Given the description of an element on the screen output the (x, y) to click on. 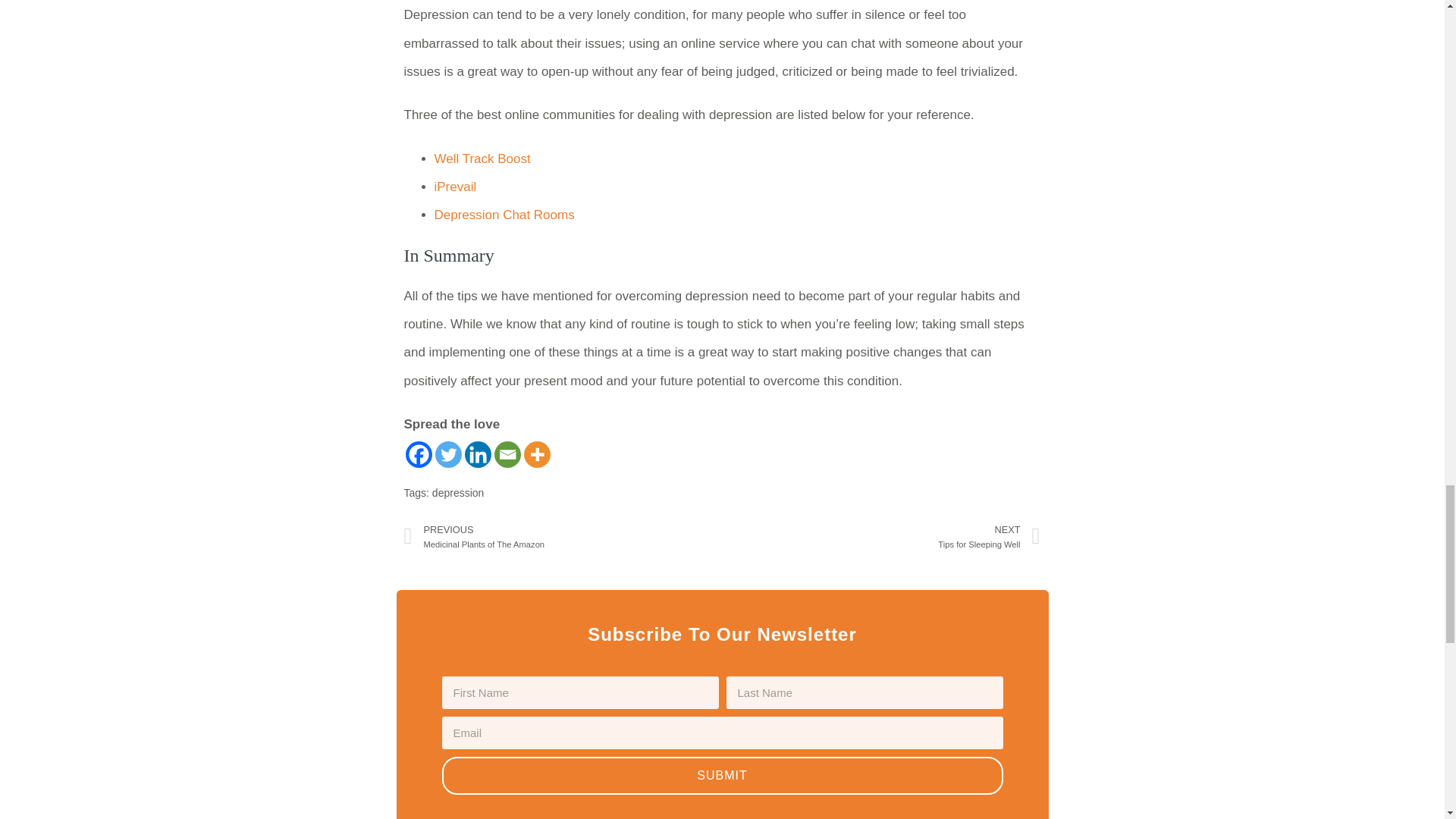
Twitter (448, 454)
Email (508, 454)
More (536, 454)
Linkedin (477, 454)
Facebook (417, 454)
